Given the description of an element on the screen output the (x, y) to click on. 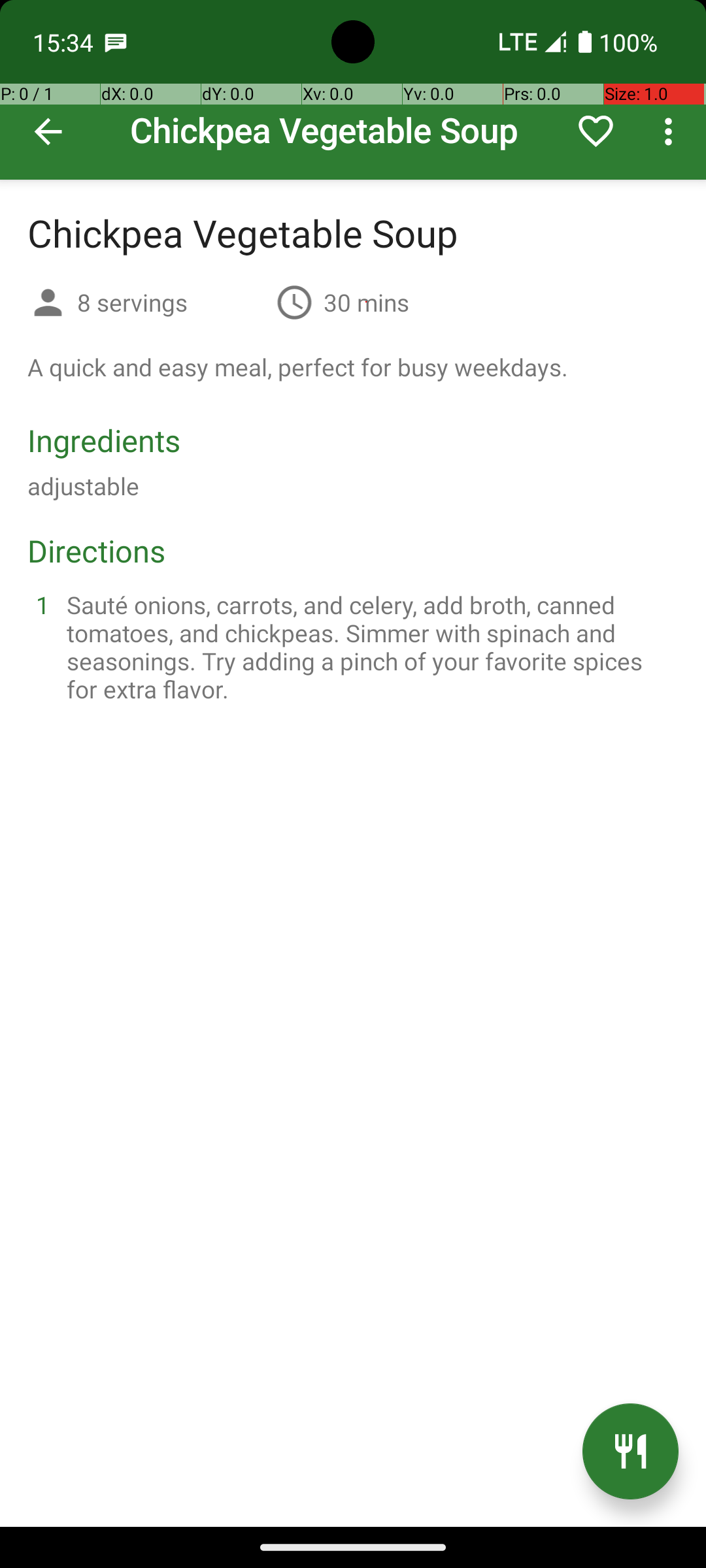
Sauté onions, carrots, and celery, add broth, canned tomatoes, and chickpeas. Simmer with spinach and seasonings. Try adding a pinch of your favorite spices for extra flavor. Element type: android.widget.TextView (368, 646)
